Given the description of an element on the screen output the (x, y) to click on. 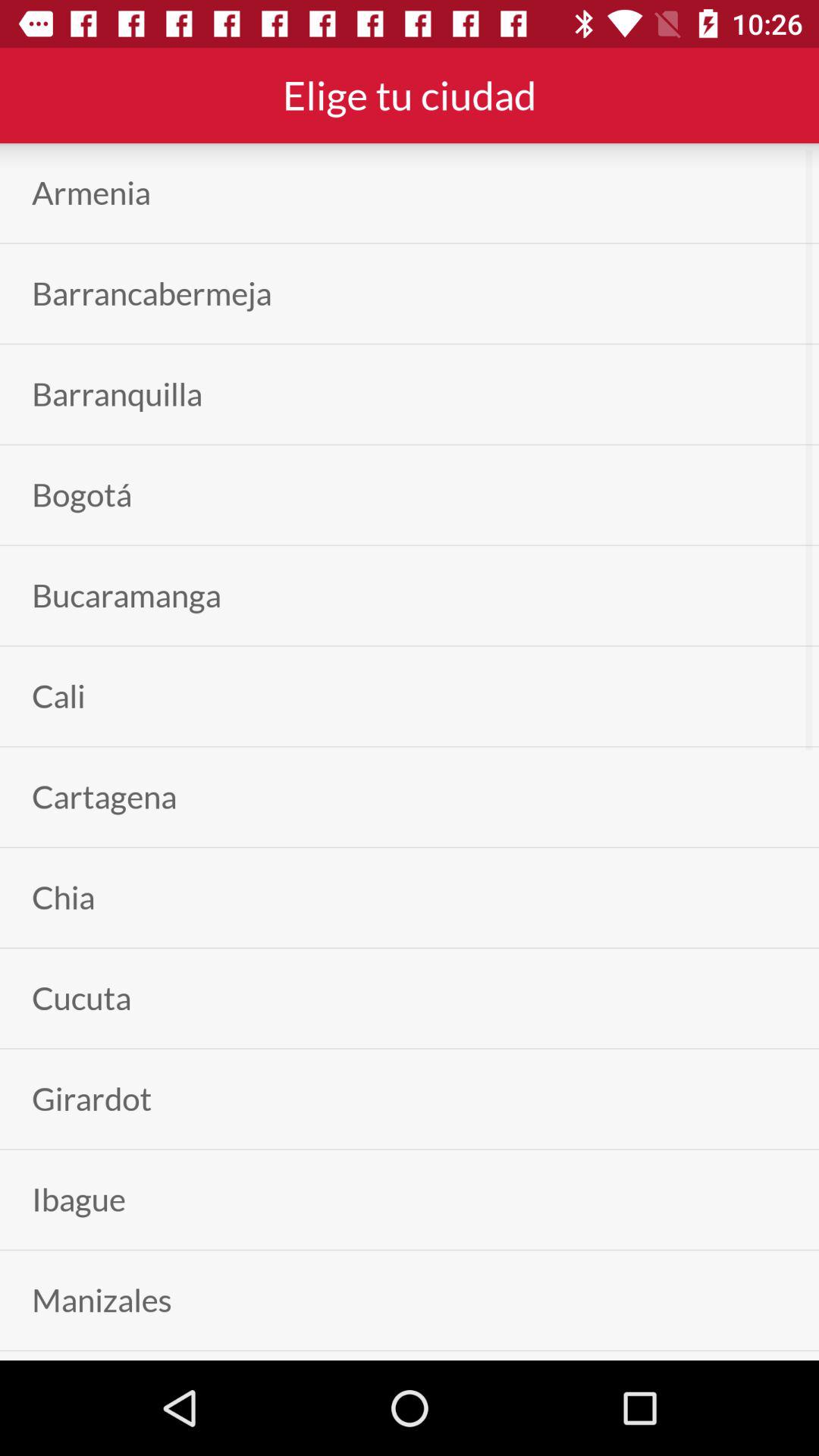
press item below the cartagena app (62, 897)
